Given the description of an element on the screen output the (x, y) to click on. 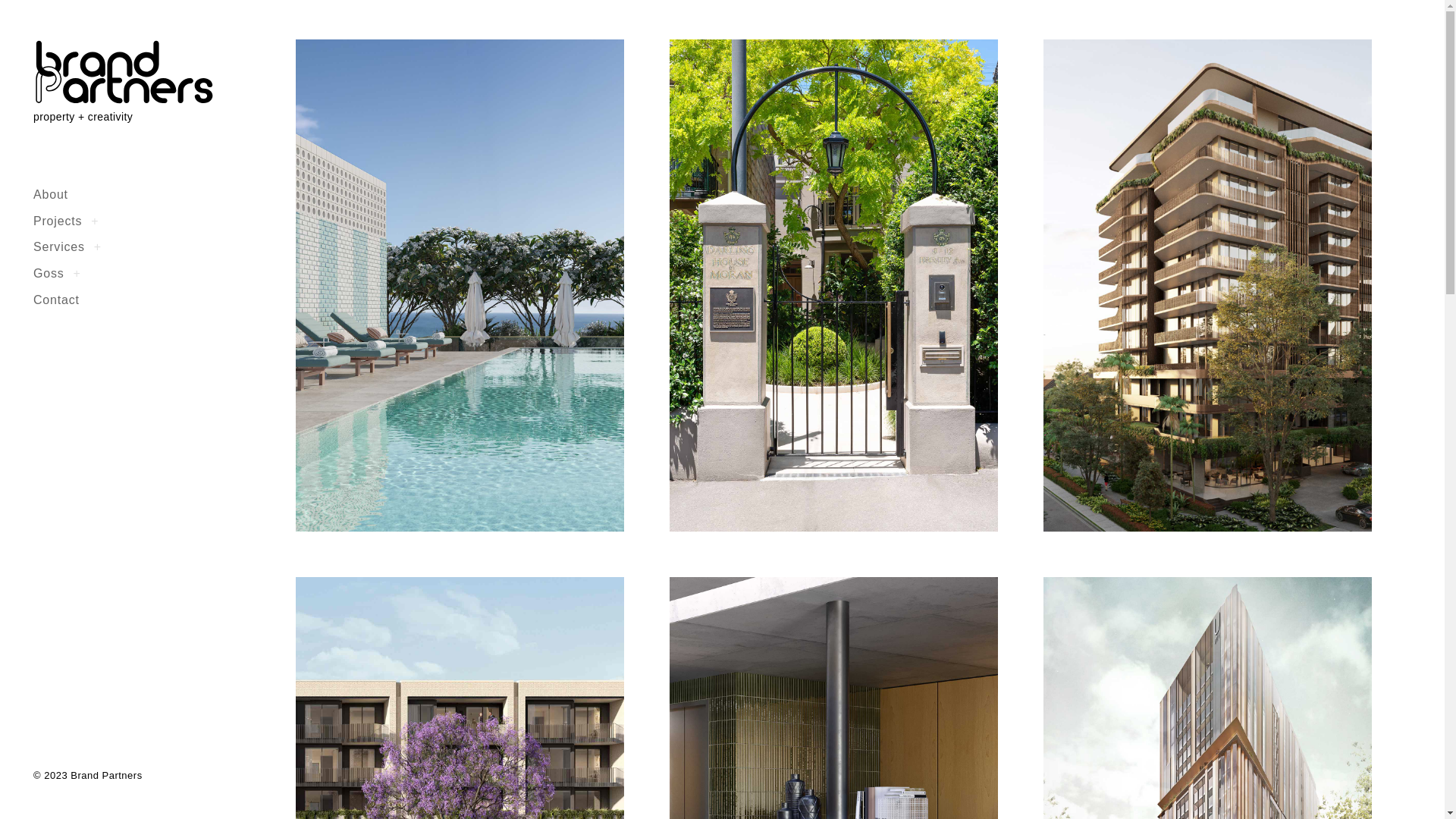
Contact Element type: text (56, 299)
Search Element type: text (26, 20)
toggle child menu
+ Element type: text (97, 246)
toggle child menu
+ Element type: text (77, 272)
About Element type: text (50, 194)
Projects Element type: text (57, 220)
Services Element type: text (58, 246)
Goss Element type: text (48, 273)
toggle child menu
+ Element type: text (94, 220)
